Given the description of an element on the screen output the (x, y) to click on. 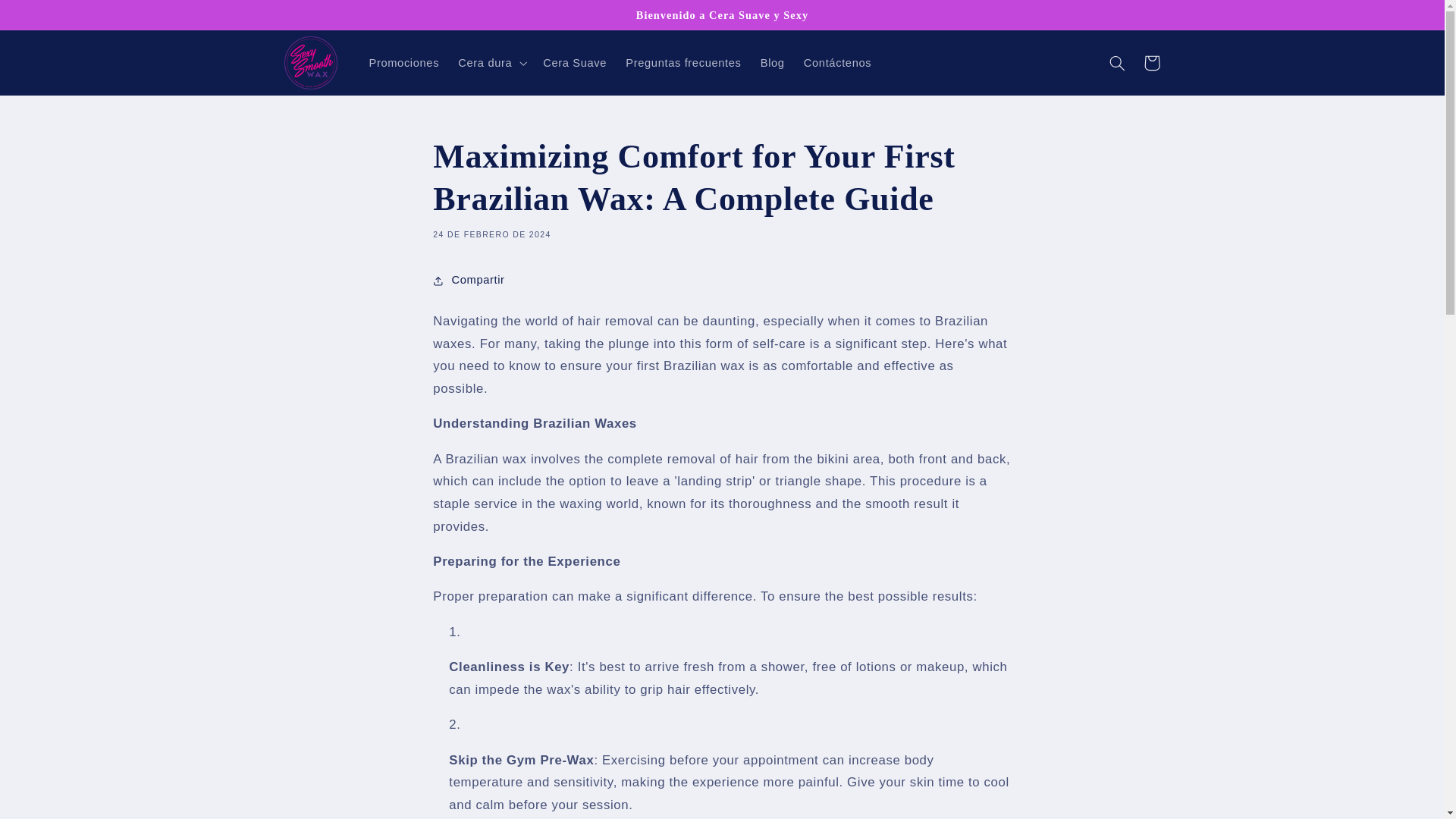
Carrito (1151, 62)
Ir directamente al contenido (48, 18)
Preguntas frecuentes (683, 62)
Cera Suave (574, 62)
Blog (772, 62)
Promociones (403, 62)
